Given the description of an element on the screen output the (x, y) to click on. 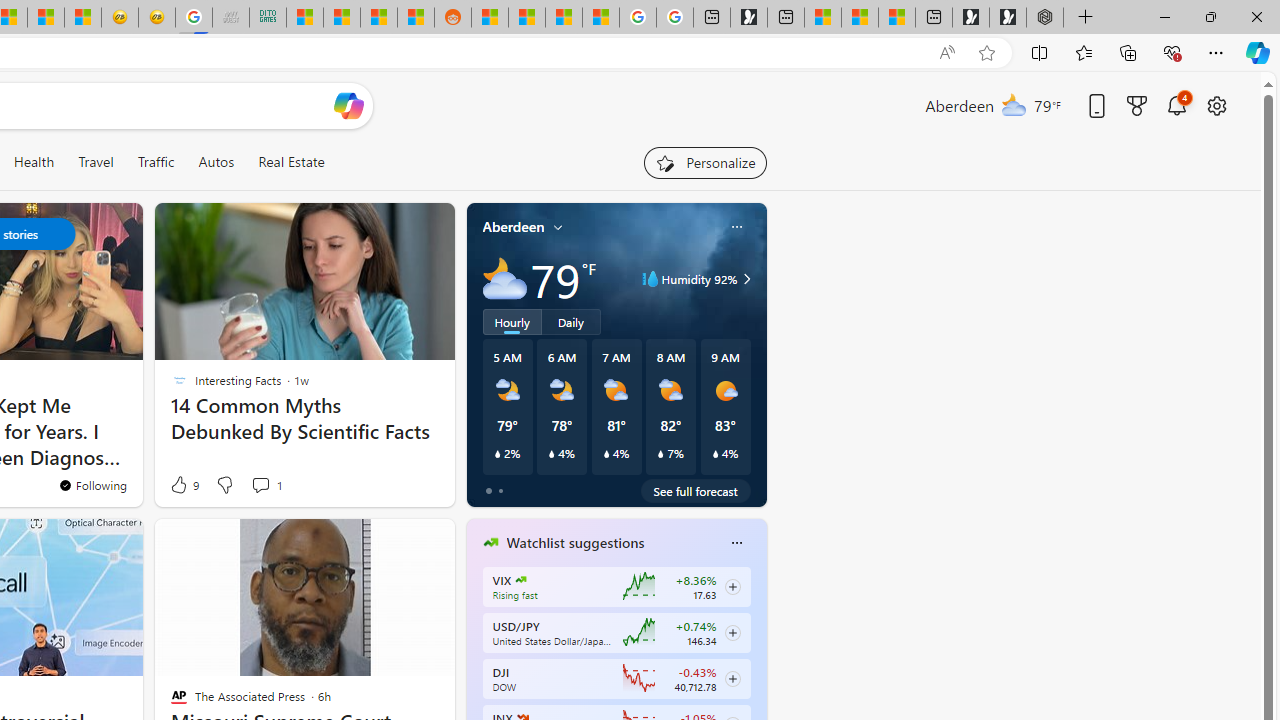
tab-1 (500, 490)
Hide this story (201, 542)
previous (476, 670)
Watchlist suggestions (575, 543)
Personalize your feed" (704, 162)
